Given the description of an element on the screen output the (x, y) to click on. 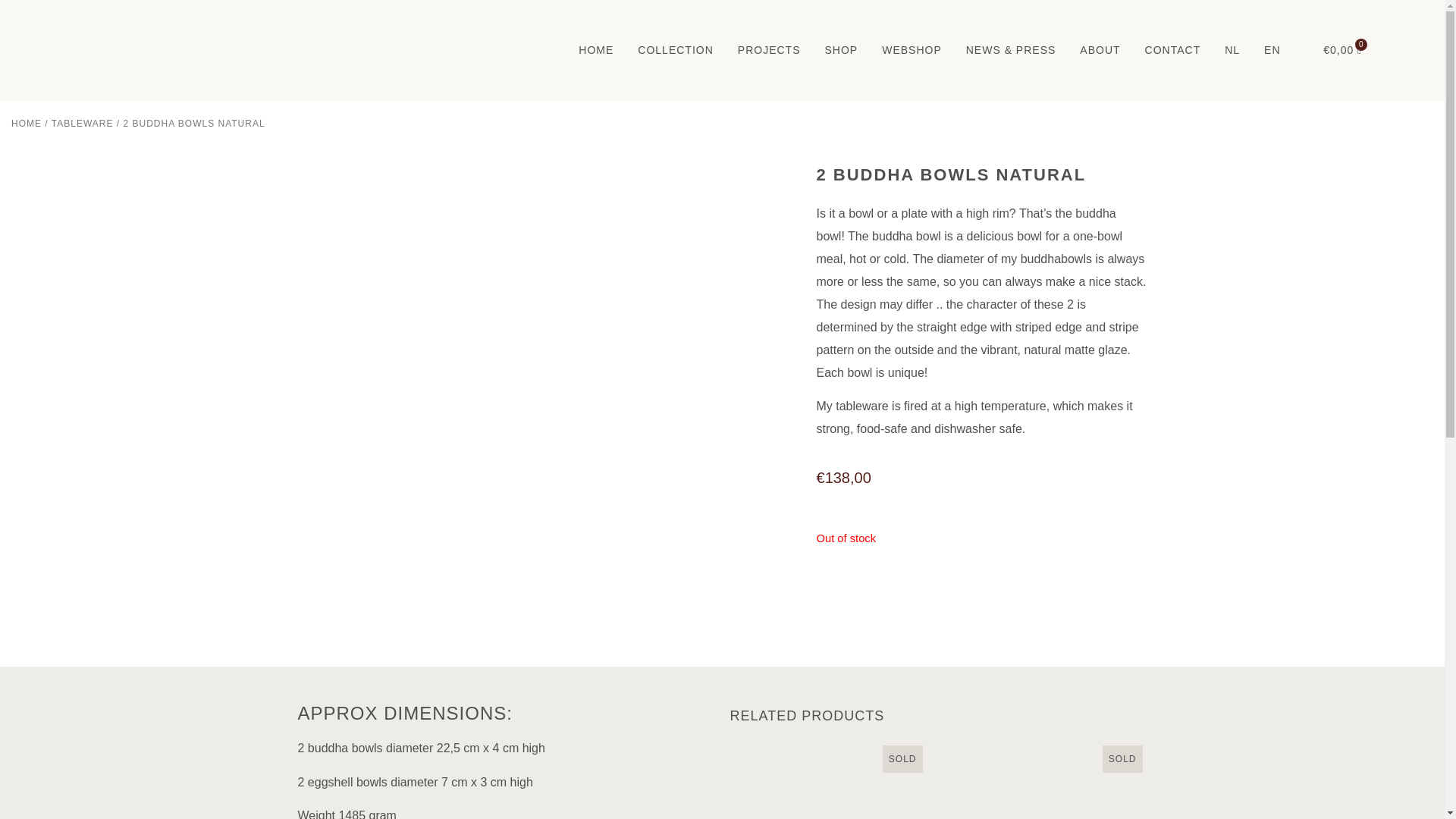
WEBSHOP (912, 49)
HOME (595, 49)
PROJECTS (769, 49)
COLLECTION (675, 49)
SHOP (840, 49)
CONTACT (1172, 49)
ABOUT (1099, 49)
